Given the description of an element on the screen output the (x, y) to click on. 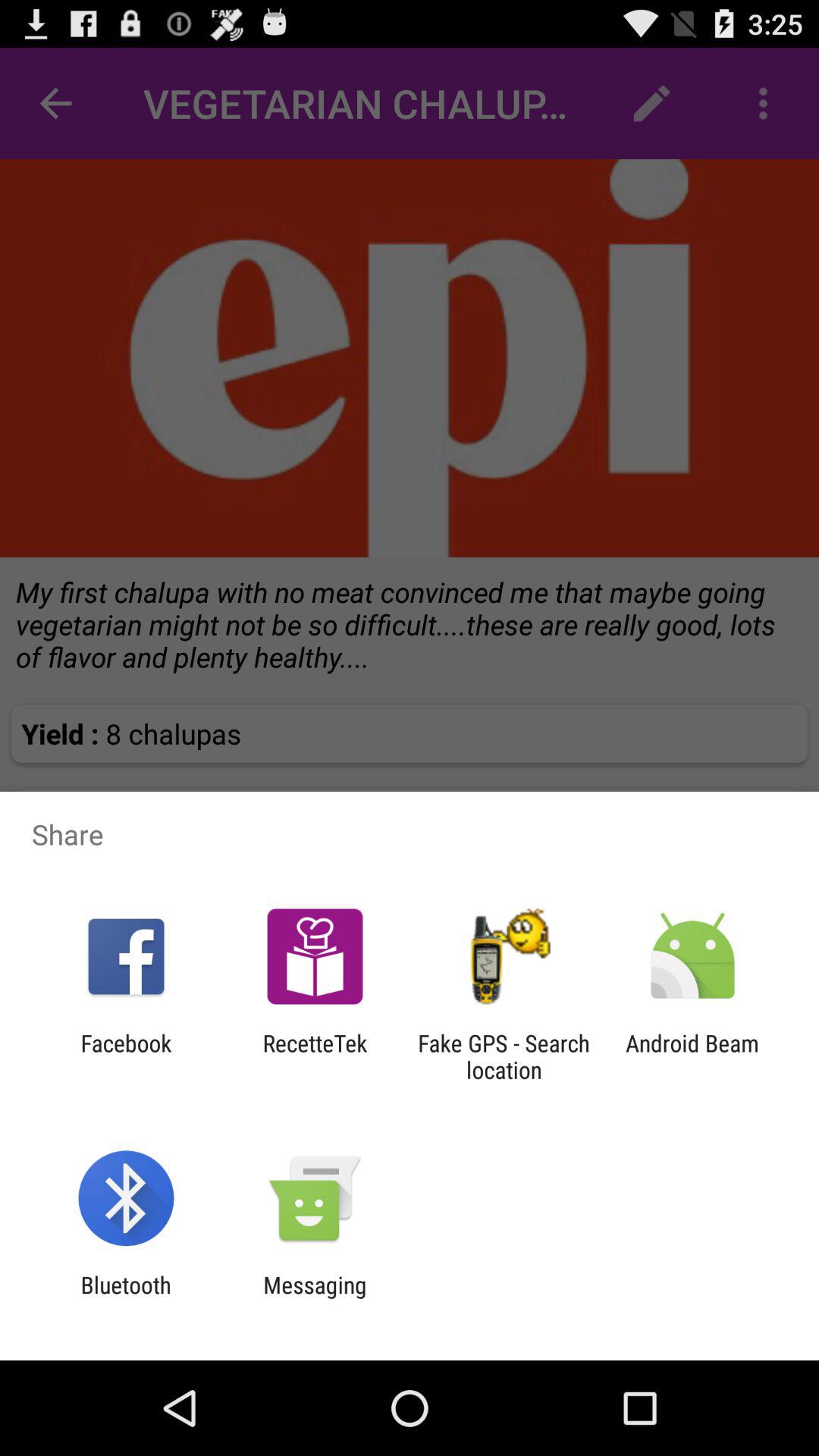
swipe to fake gps search icon (503, 1056)
